Given the description of an element on the screen output the (x, y) to click on. 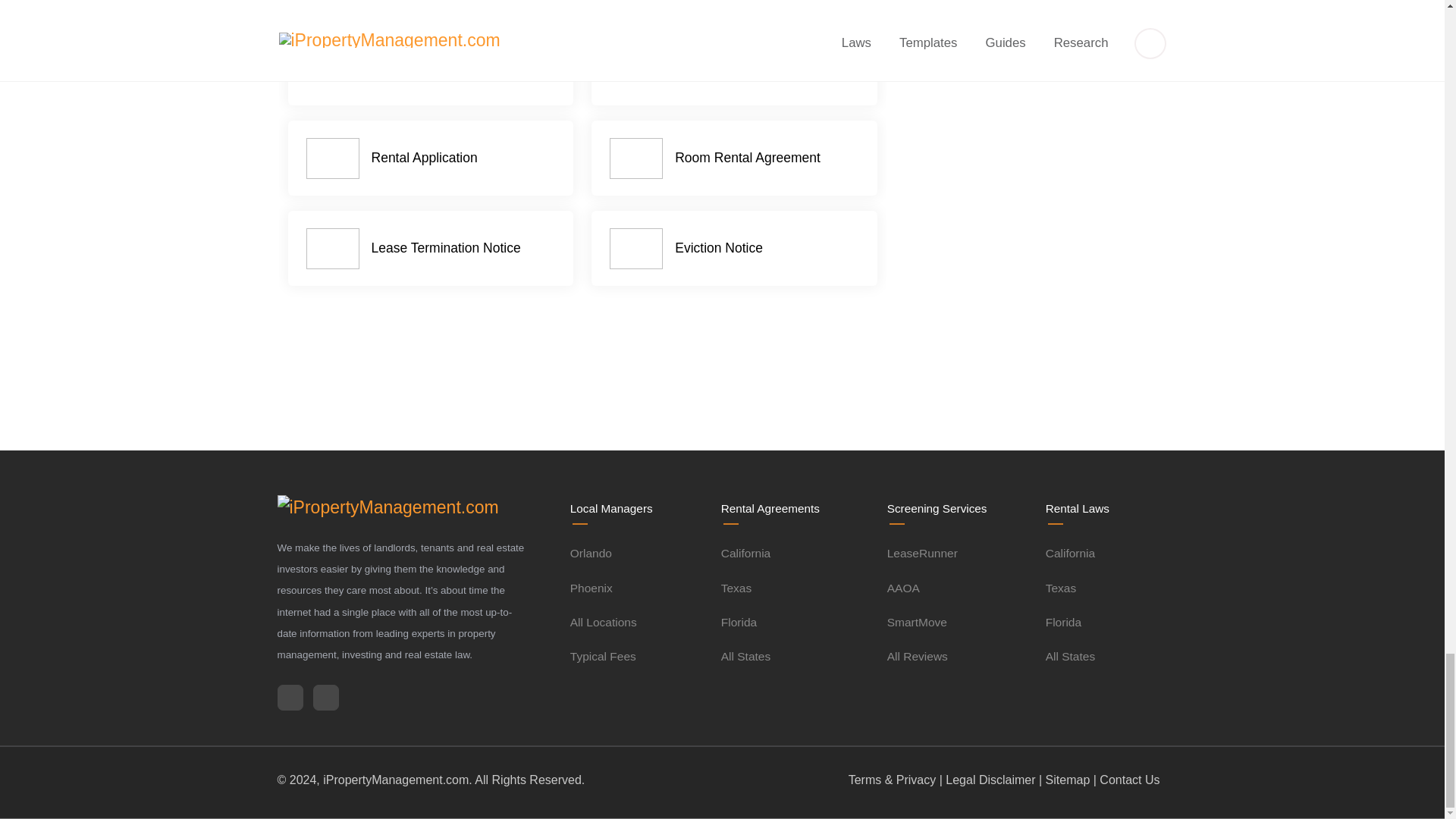
We are on Facebook (290, 697)
Room Rental Agreement (734, 158)
Lease Termination Notice (430, 248)
Rental Application (430, 158)
Eviction Notice (734, 248)
Residential Lease Agreement (430, 60)
Month-to-Month Rental Agreement (734, 60)
